Given the description of an element on the screen output the (x, y) to click on. 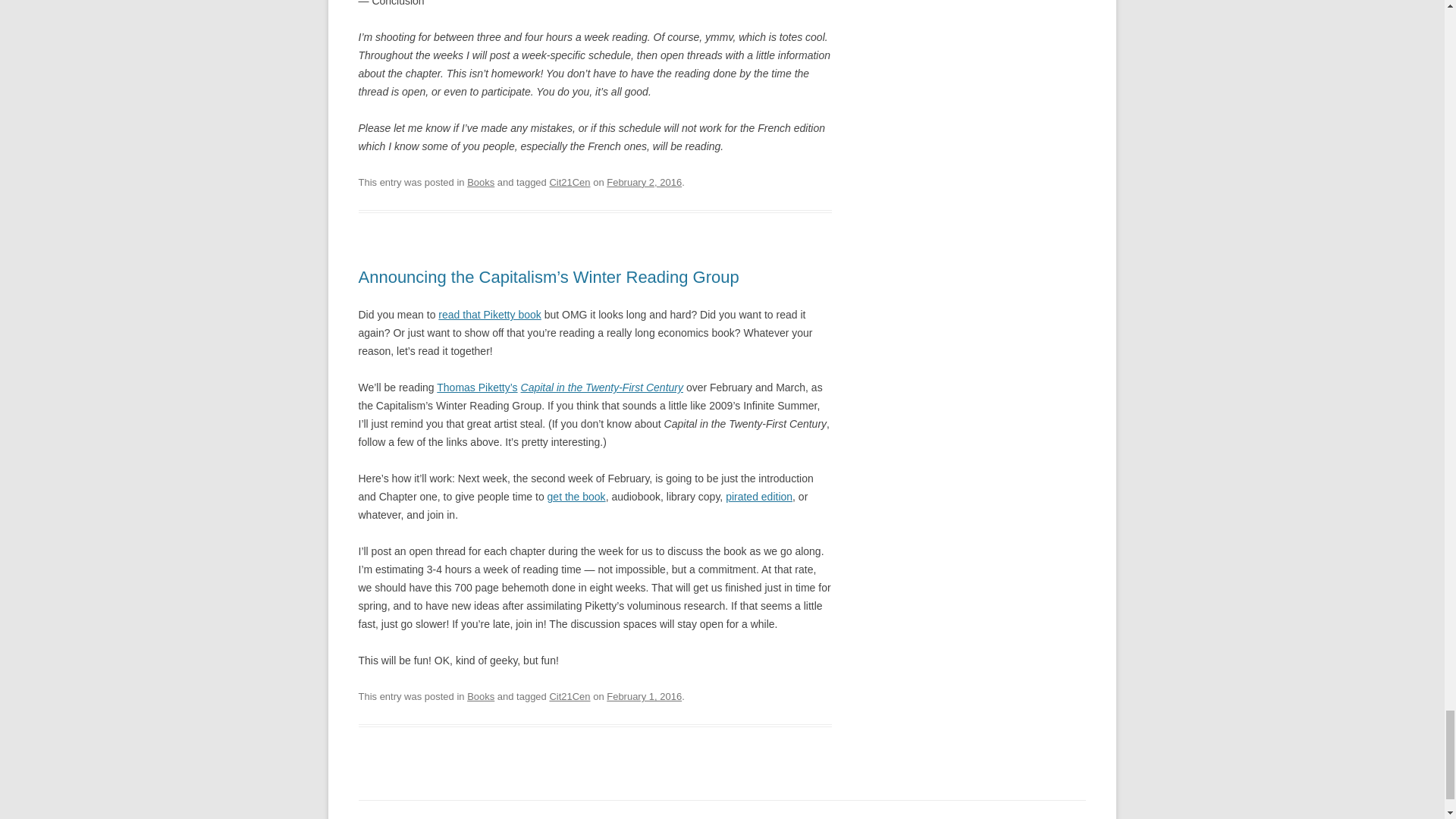
Books (481, 182)
6:52 am (644, 182)
Cit21Cen (568, 182)
6:11 pm (644, 696)
